Given the description of an element on the screen output the (x, y) to click on. 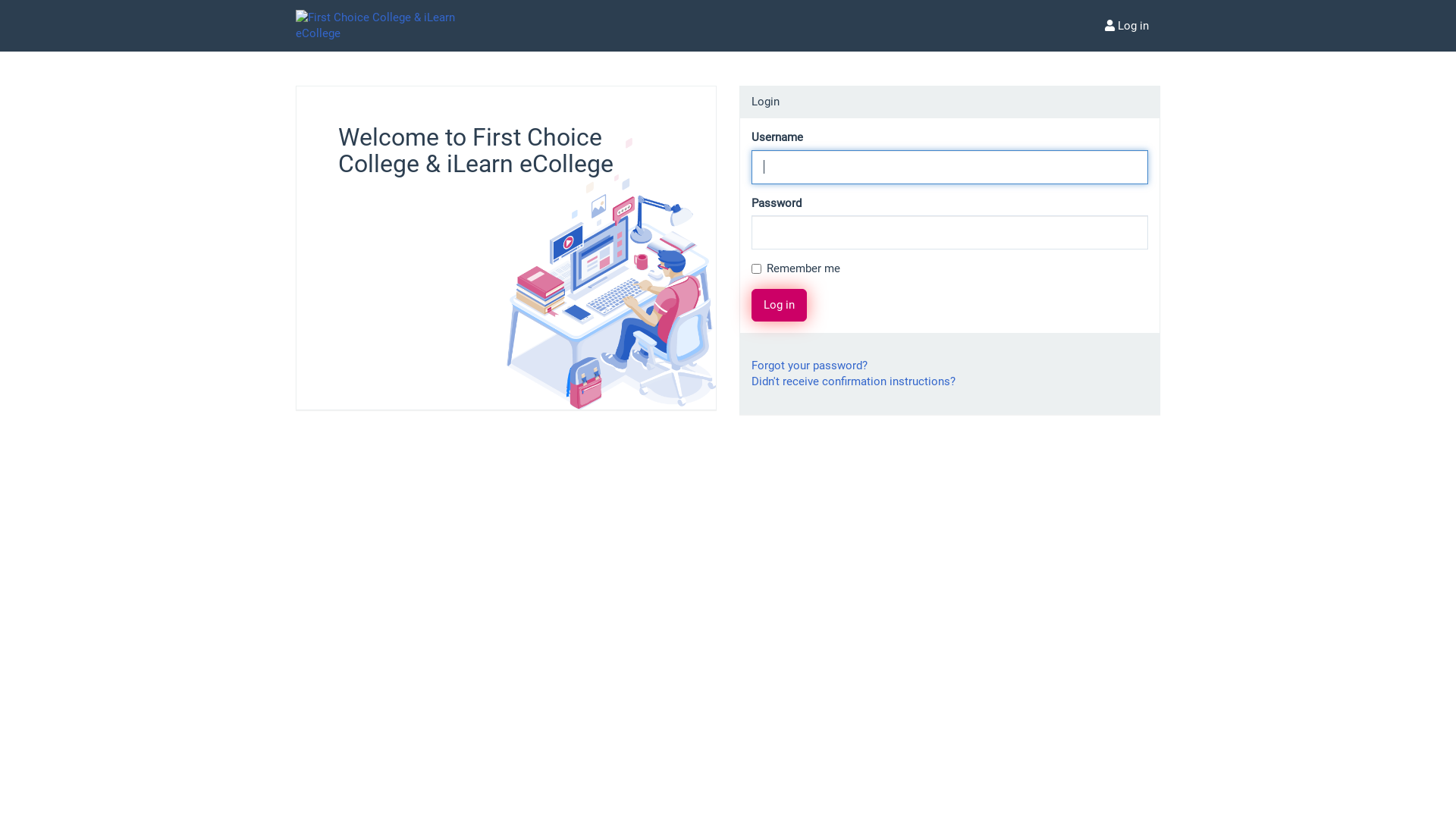
Log in Element type: text (778, 304)
Forgot your password? Element type: text (809, 365)
Log in Element type: text (1126, 25)
Didn't receive confirmation instructions? Element type: text (853, 381)
